Given the description of an element on the screen output the (x, y) to click on. 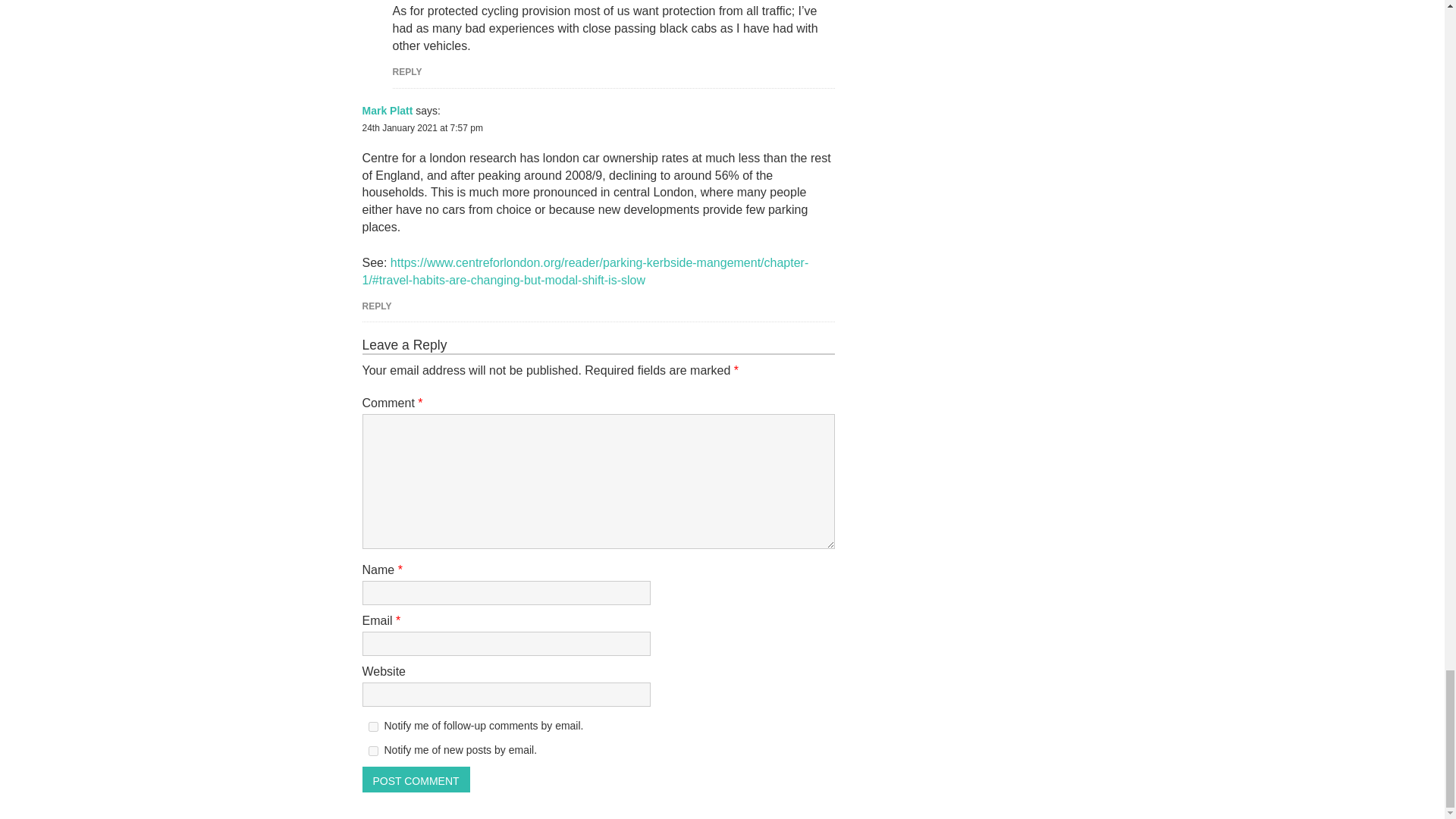
Post Comment (416, 779)
subscribe (373, 750)
subscribe (373, 726)
